Given the description of an element on the screen output the (x, y) to click on. 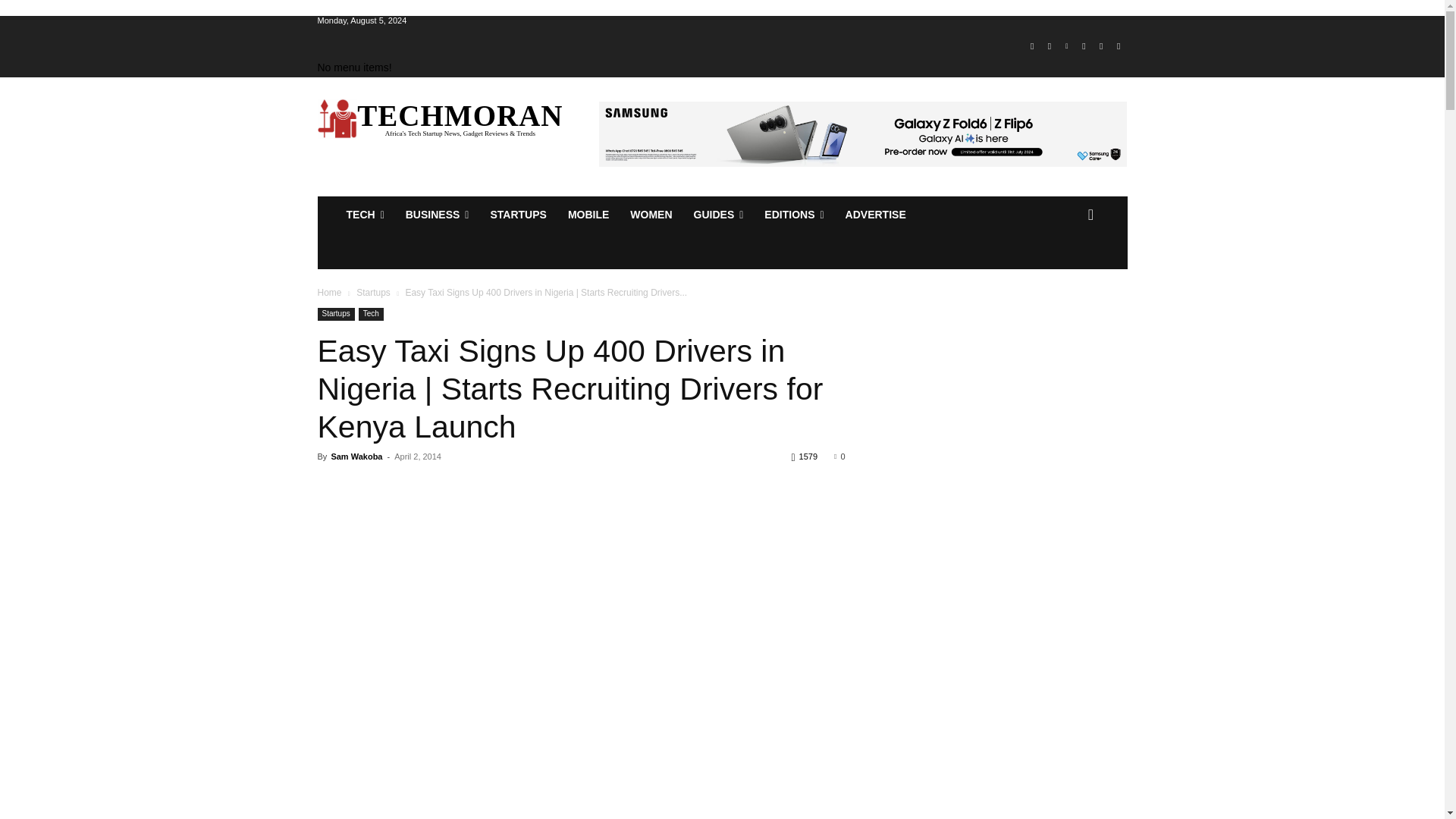
BUSINESS (437, 214)
Mobile (588, 214)
STARTUPS (517, 214)
Youtube (1117, 46)
Facebook (1032, 46)
Twitter (1101, 46)
Telegram (1084, 46)
MOBILE (588, 214)
GUIDES (718, 214)
View all posts in Startups (373, 292)
WOMEN (651, 214)
Instagram (1049, 46)
Linkedin (1066, 46)
TECH (364, 214)
